Given the description of an element on the screen output the (x, y) to click on. 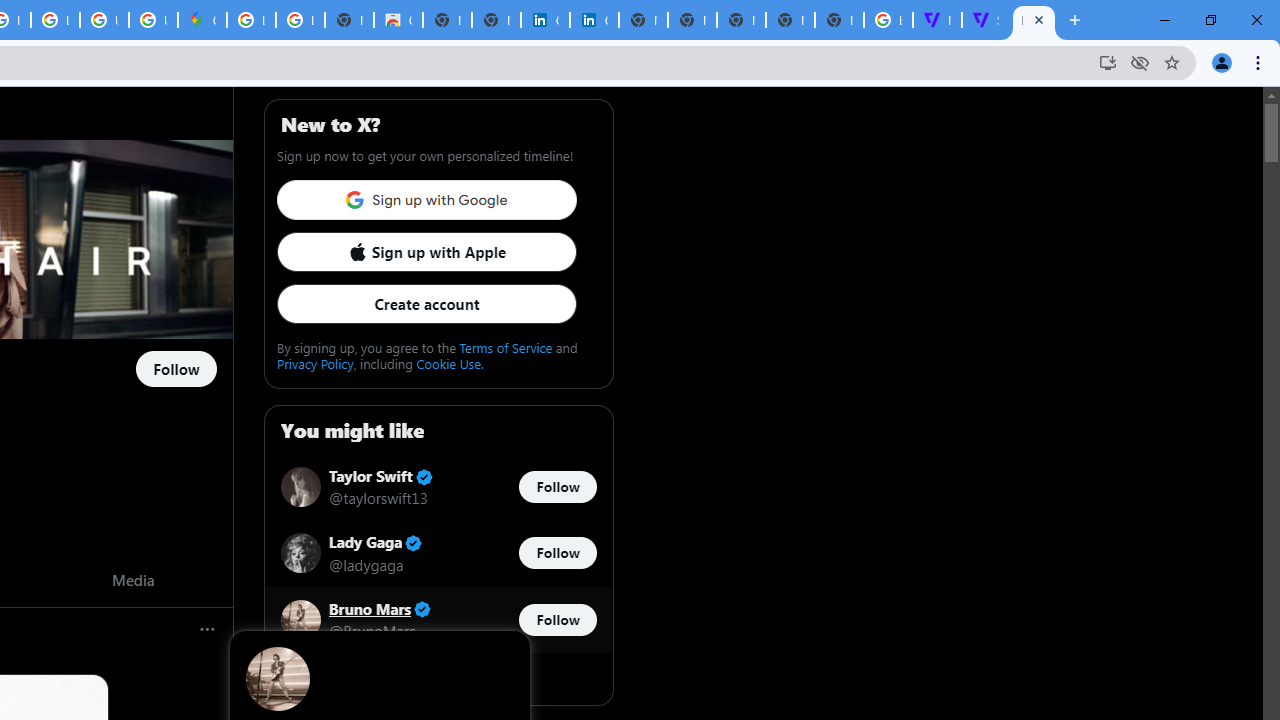
Bruno Mars Verified account @BrunoMars Follow @BrunoMars (438, 619)
More (207, 629)
@BrunoMars (372, 629)
Install X (1107, 62)
Chrome Web Store (398, 20)
Media (132, 579)
Cookie Use. (449, 363)
@ladygaga (366, 564)
